Given the description of an element on the screen output the (x, y) to click on. 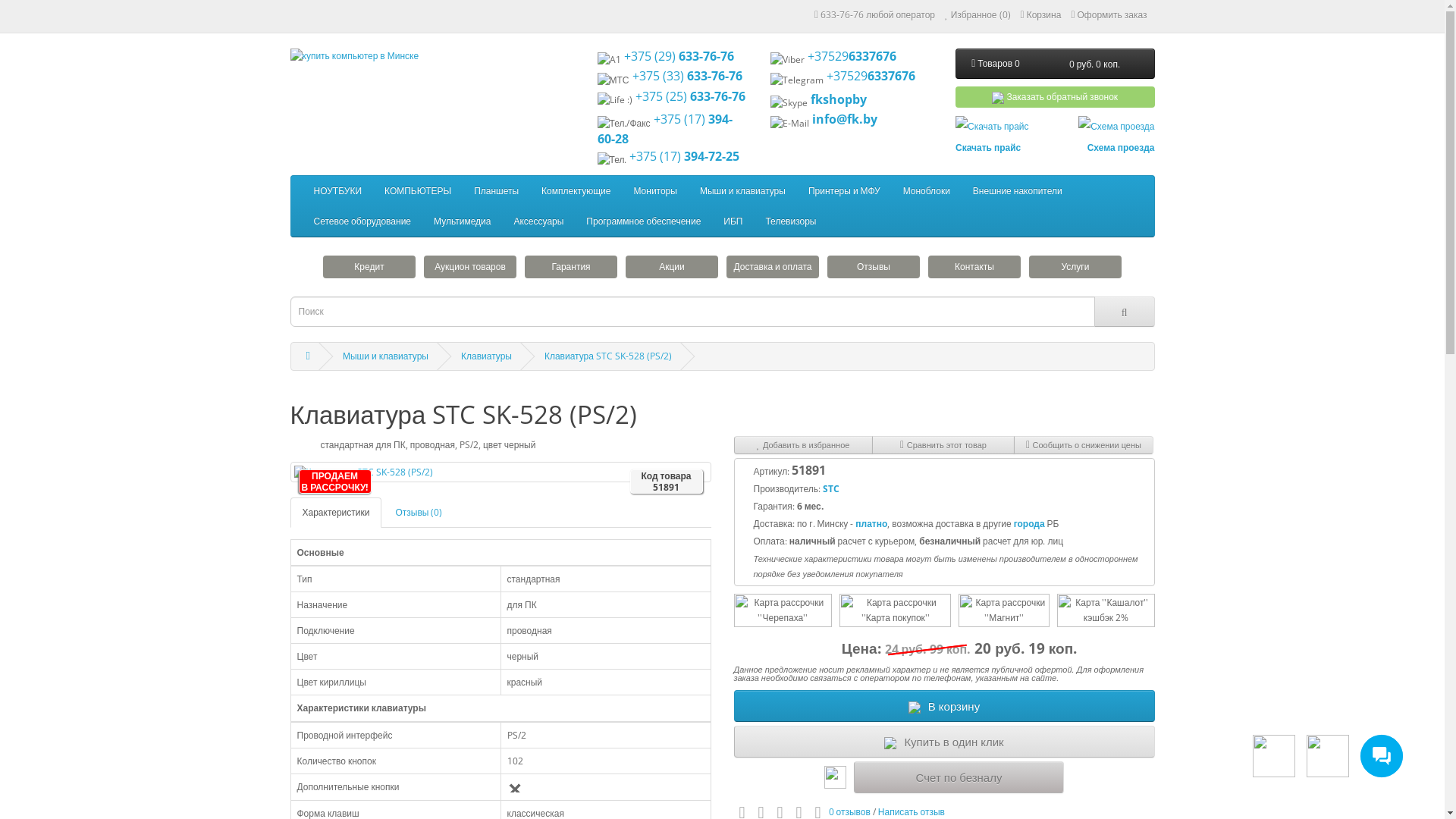
info@fk.by Element type: text (844, 118)
+375 (25) 633-76-76 Element type: text (690, 95)
A1 Element type: hover (609, 59)
+375296337676 Element type: text (851, 55)
Life :) Element type: hover (614, 99)
STC Element type: text (830, 488)
+375 (33) 633-76-76 Element type: text (687, 75)
+375 (17) 394-60-28 Element type: text (664, 128)
Skype Element type: hover (788, 102)
+375 (17) 394-72-25 Element type: text (684, 155)
E-Mail Element type: hover (789, 123)
Viber Element type: hover (787, 59)
Telegram Element type: hover (796, 79)
+375 (29) 633-76-76 Element type: text (678, 55)
fkshopby Element type: text (838, 99)
+375296337676 Element type: text (870, 75)
